Given the description of an element on the screen output the (x, y) to click on. 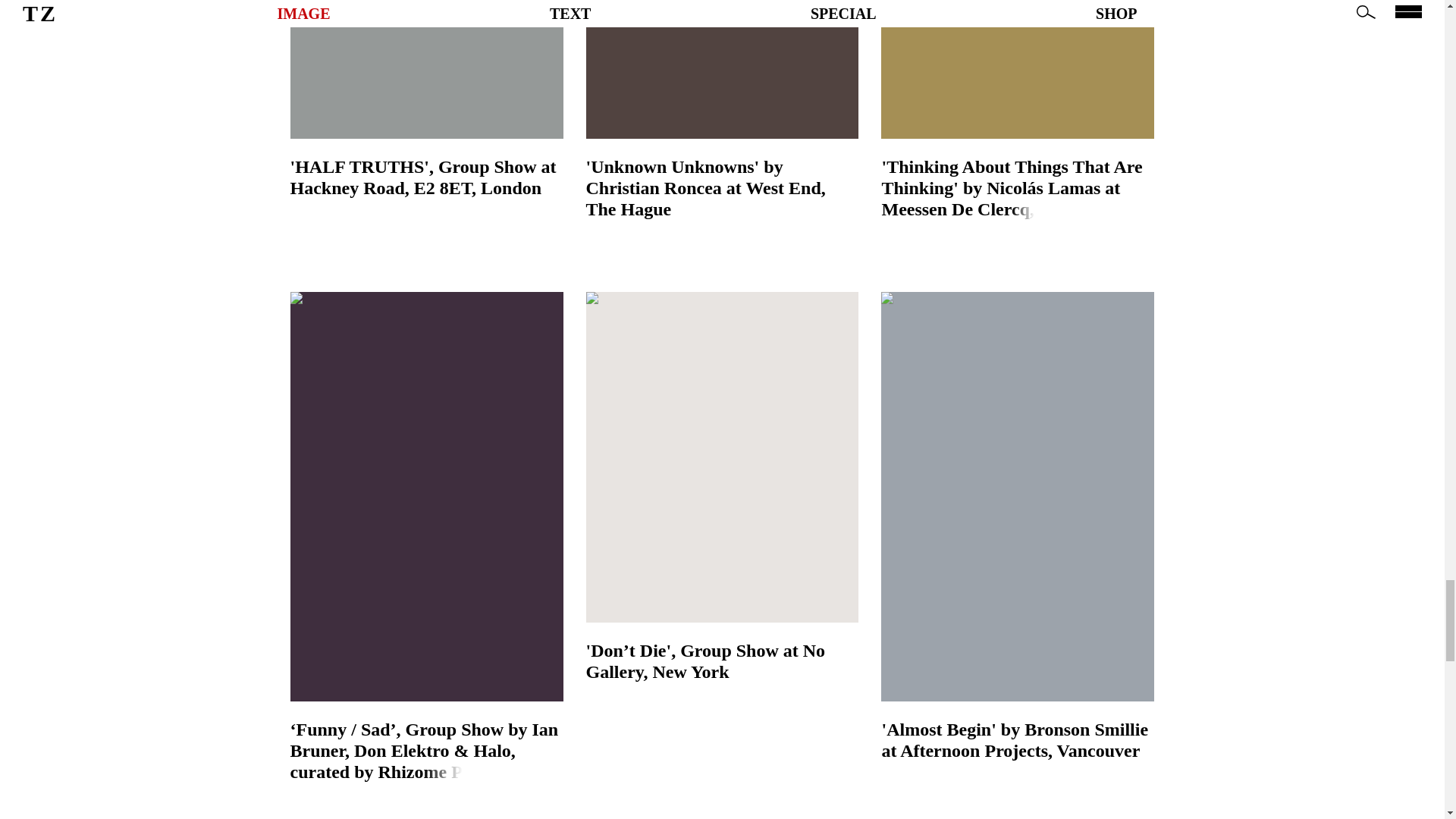
'HALF TRUTHS', Group Show at Hackney Road, E2 8ET, London (426, 177)
'HALF TRUTHS', Group Show at Hackney Road, E2 8ET, London (426, 99)
